Given the description of an element on the screen output the (x, y) to click on. 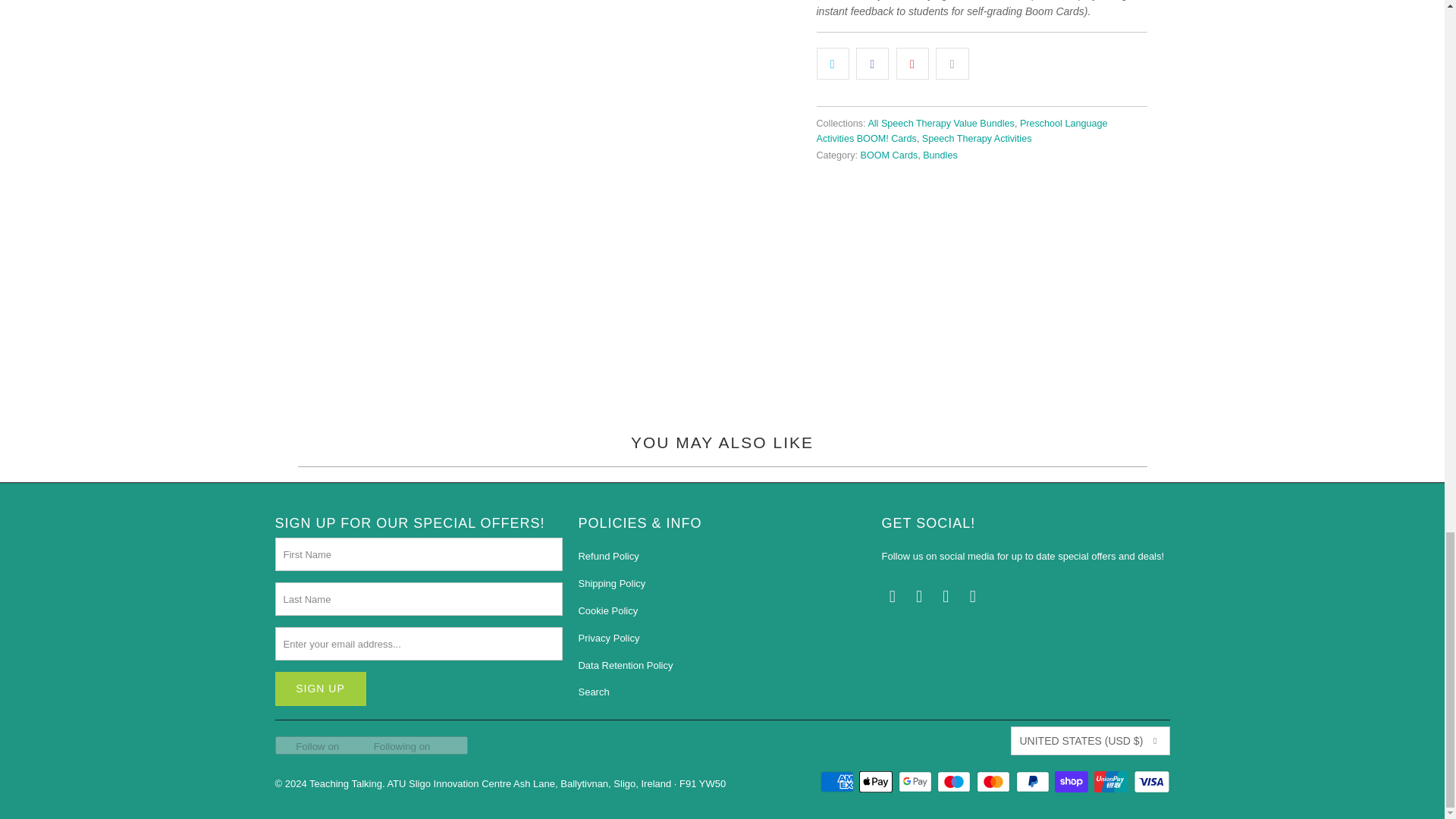
PayPal (1034, 781)
Google Pay (916, 781)
Apple Pay (877, 781)
Mastercard (994, 781)
Share this on Pinterest (912, 62)
Shop Pay (1072, 781)
Union Pay (1112, 781)
Share this on Facebook (872, 62)
Email this to a friend (952, 62)
Maestro (955, 781)
Products tagged Bundles (940, 154)
Share this on Twitter (831, 62)
Visa (1150, 781)
Products tagged BOOM Cards (889, 154)
Preschool Language Activities BOOM! Cards (960, 130)
